Given the description of an element on the screen output the (x, y) to click on. 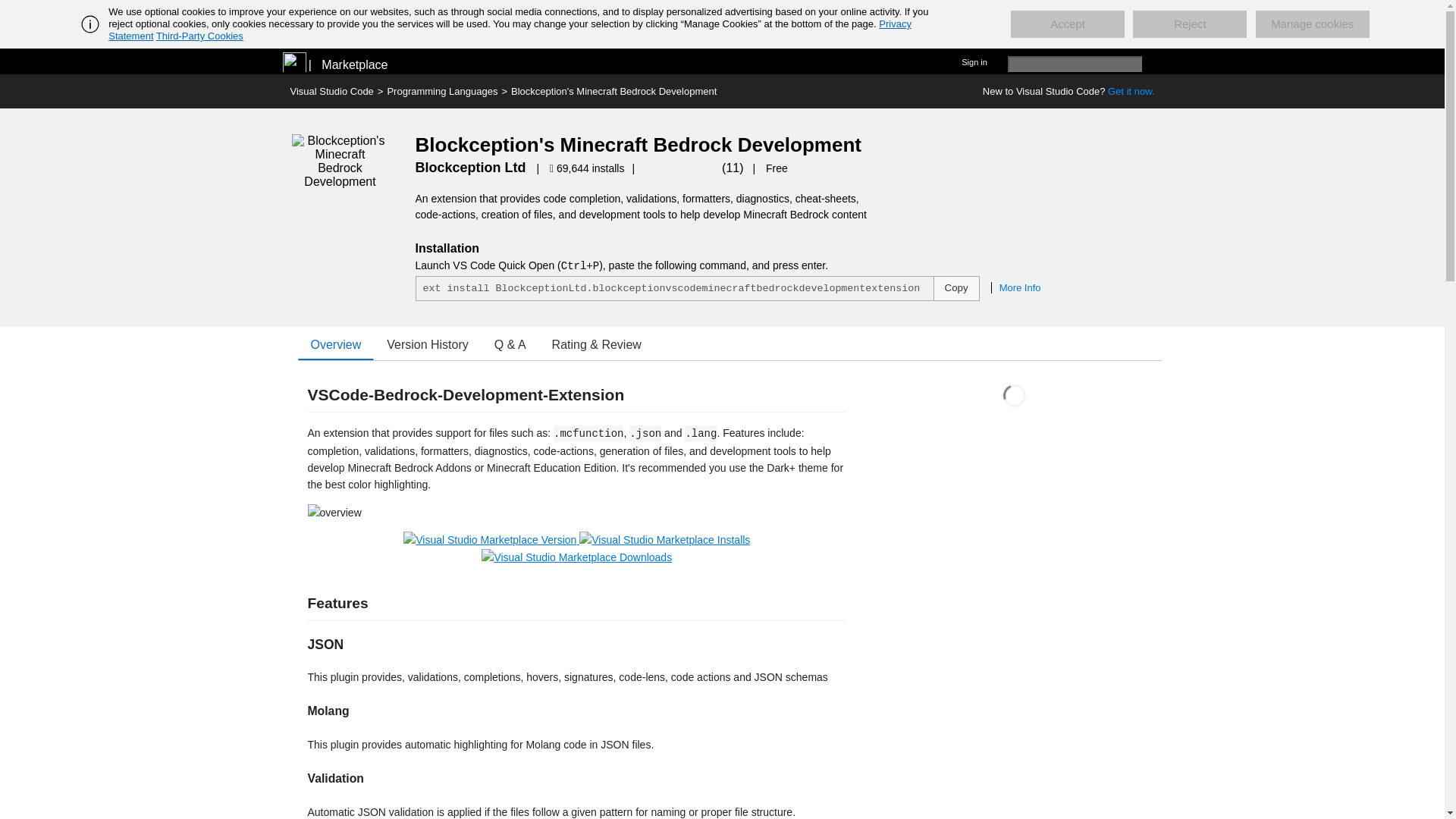
Blockception Ltd (469, 167)
Copy (955, 288)
Overview (335, 345)
Accept (1067, 23)
Sign in (973, 61)
Programming Languages (442, 91)
Version History (427, 345)
The number of unique installations, not including updates. (588, 168)
Get it now. (1131, 91)
